Given the description of an element on the screen output the (x, y) to click on. 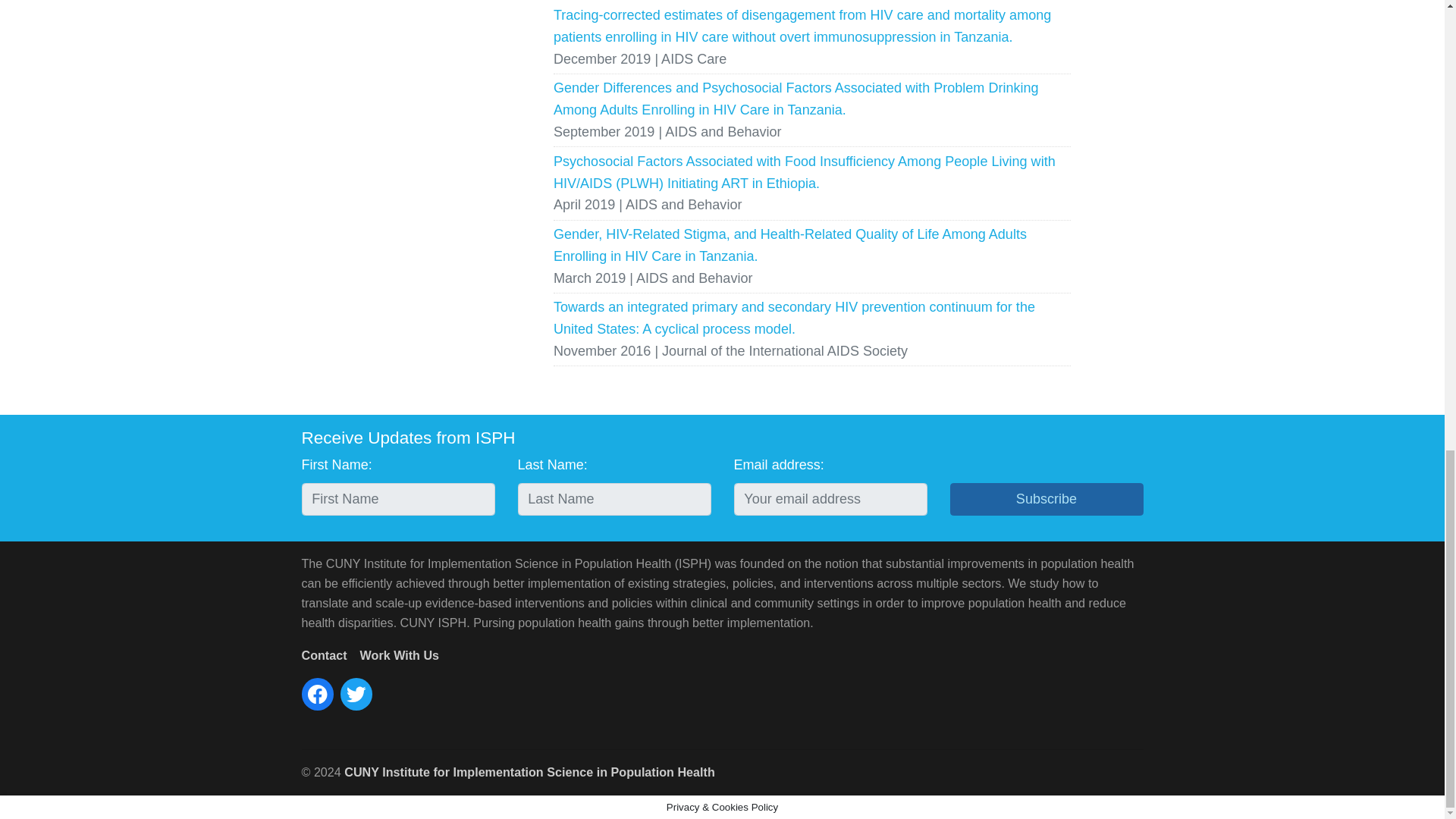
Work With Us (399, 654)
Subscribe (1045, 499)
Contact (324, 654)
